Given the description of an element on the screen output the (x, y) to click on. 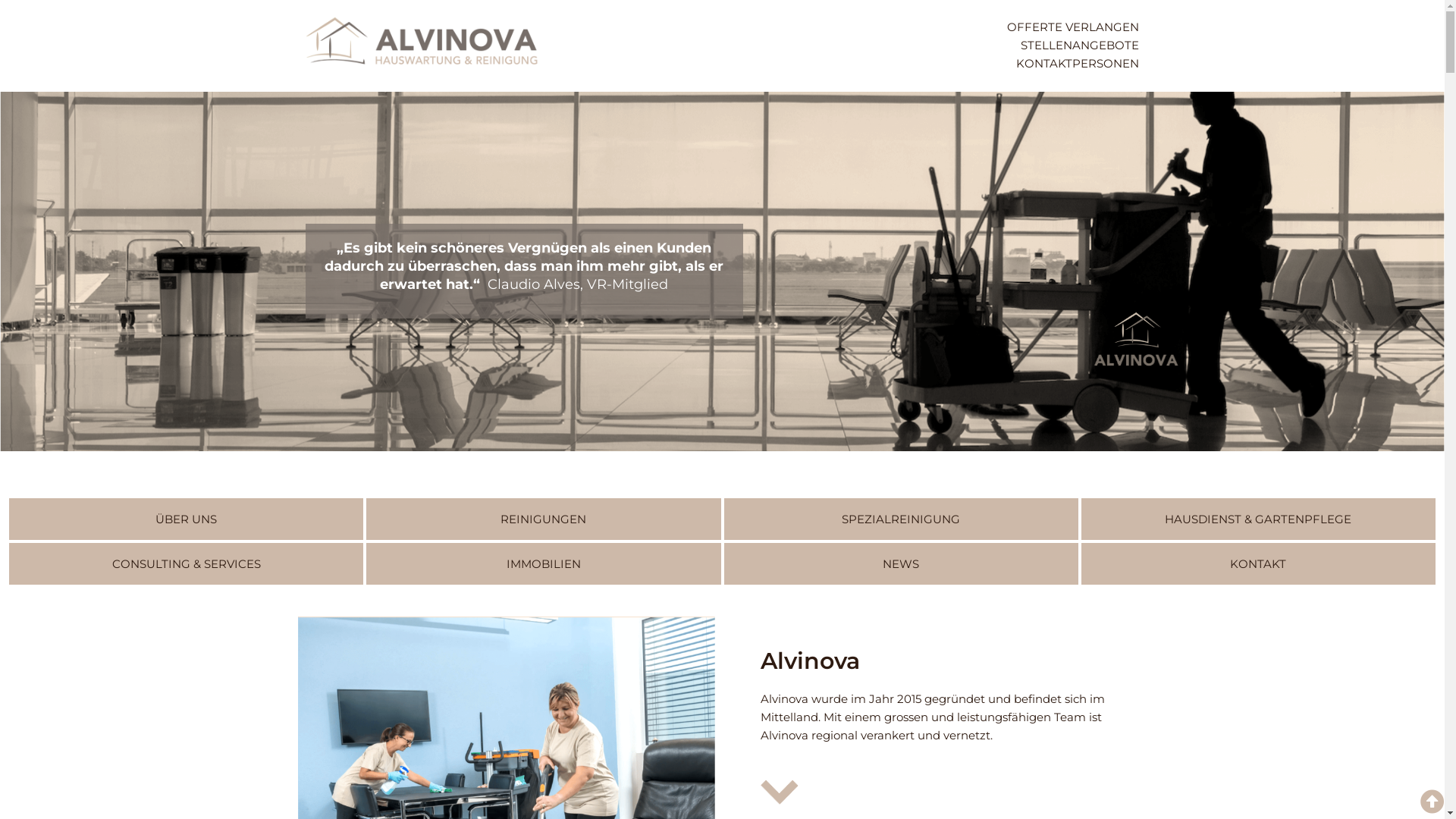
OFFERTE VERLANGEN Element type: text (858, 27)
SPEZIALREINIGUNG Element type: text (900, 518)
STELLENANGEBOTE Element type: text (858, 45)
REINIGUNGEN Element type: text (543, 518)
CONSULTING & SERVICES Element type: text (186, 563)
IMMOBILIEN Element type: text (543, 563)
KONTAKTPERSONEN Element type: text (858, 63)
HAUSDIENST & GARTENPFLEGE Element type: text (1258, 518)
KONTAKT Element type: text (1258, 563)
NEWS Element type: text (900, 563)
